Given the description of an element on the screen output the (x, y) to click on. 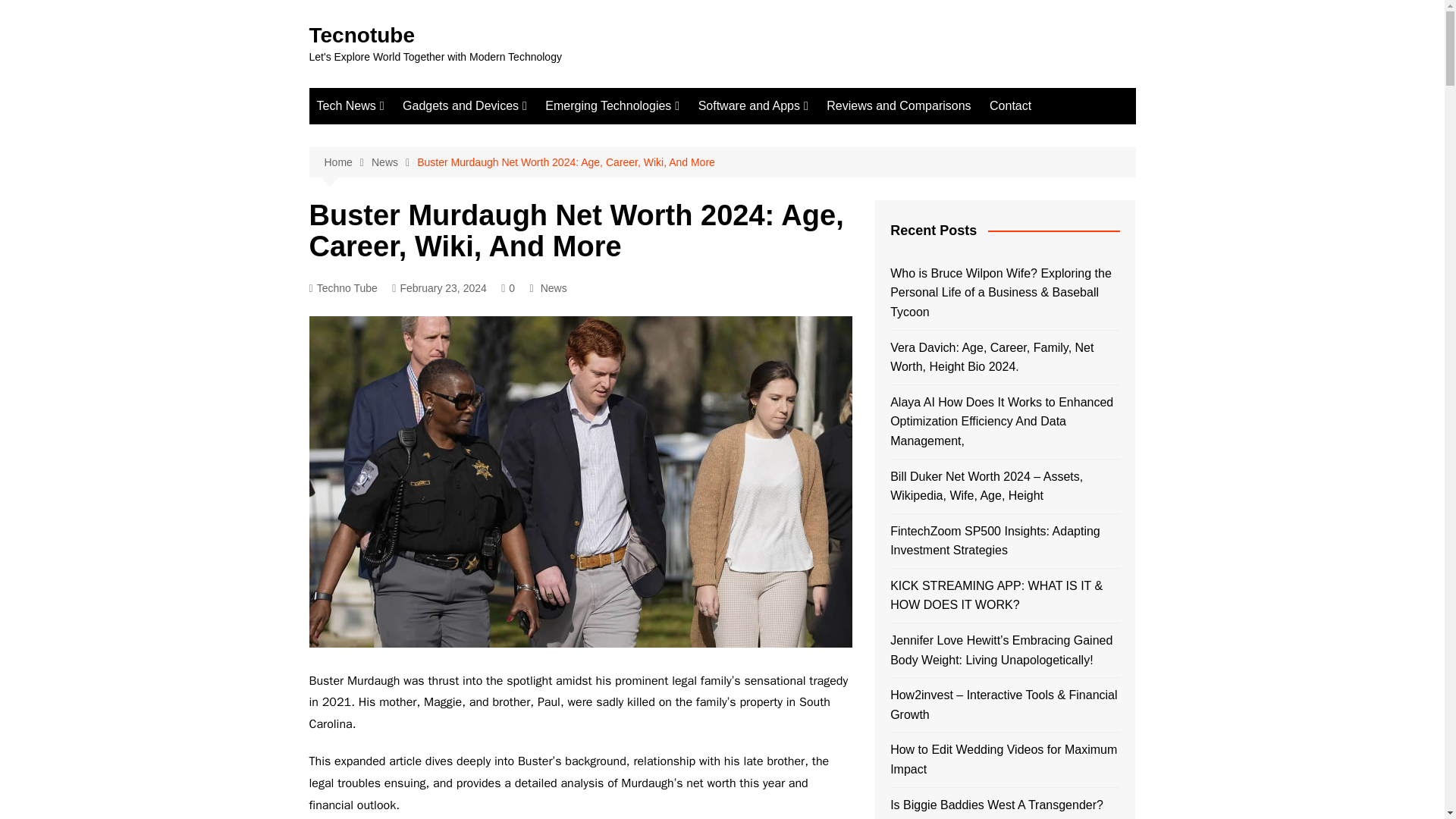
News (553, 288)
Gaming Consoles (478, 186)
Productivity Apps (773, 161)
Gadgets and Devices (464, 105)
Entertainment Apps (773, 136)
Artificial Intelligence (620, 161)
February 23, 2024 (438, 288)
Laptops and Computers (478, 161)
Reviews and Comparisons (898, 105)
Future Tech Predictions (392, 161)
News (393, 162)
Emerging Technologies (612, 105)
Tech News (349, 105)
Home (347, 162)
Software and Apps (752, 105)
